Given the description of an element on the screen output the (x, y) to click on. 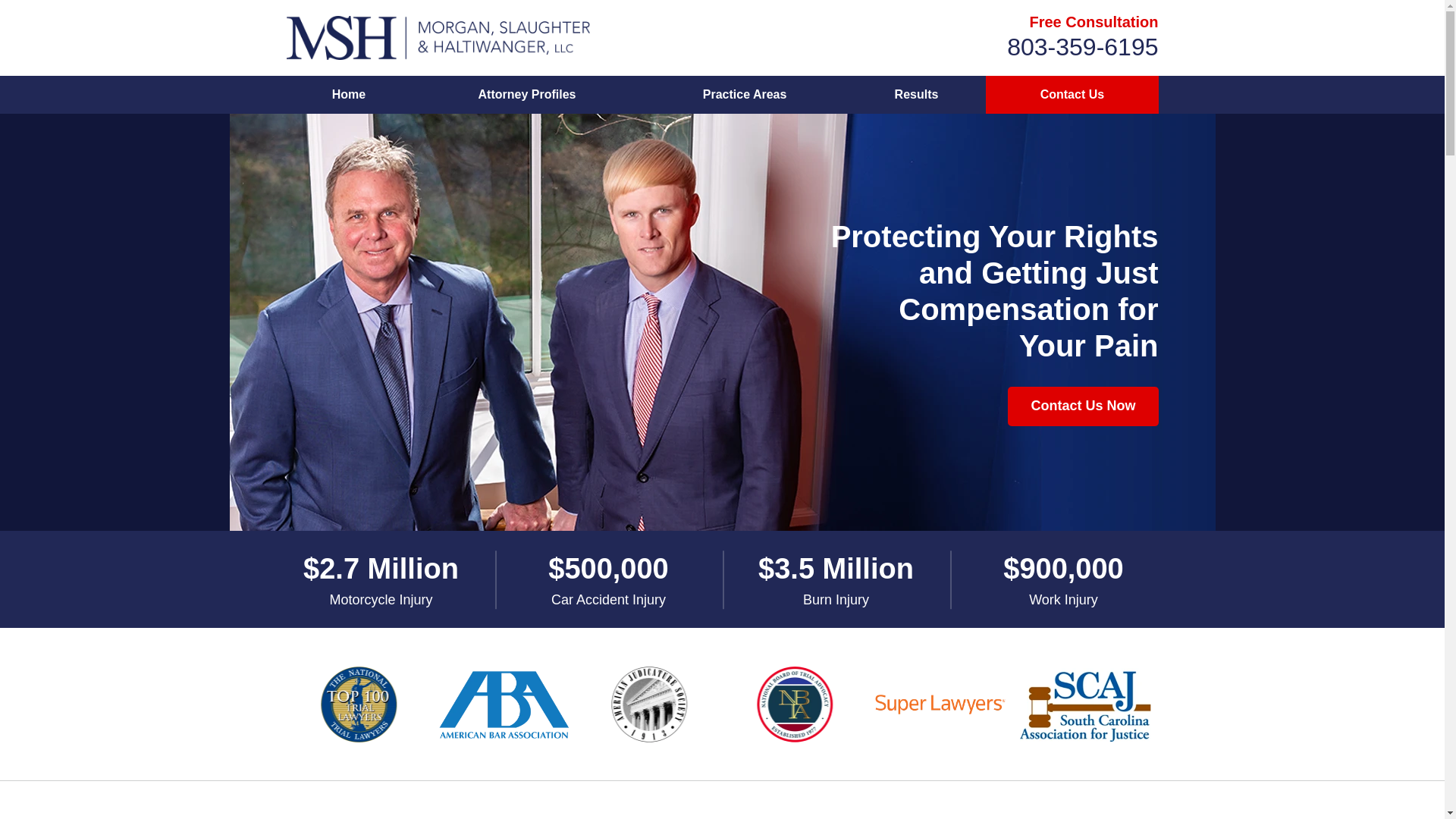
Attorney Profiles (526, 94)
Contact Us Now (1082, 405)
Free Consultation (1093, 21)
Practice Areas (743, 94)
Contact Us (1071, 94)
Home (349, 94)
803-359-6195 (1082, 46)
Results (917, 94)
